Given the description of an element on the screen output the (x, y) to click on. 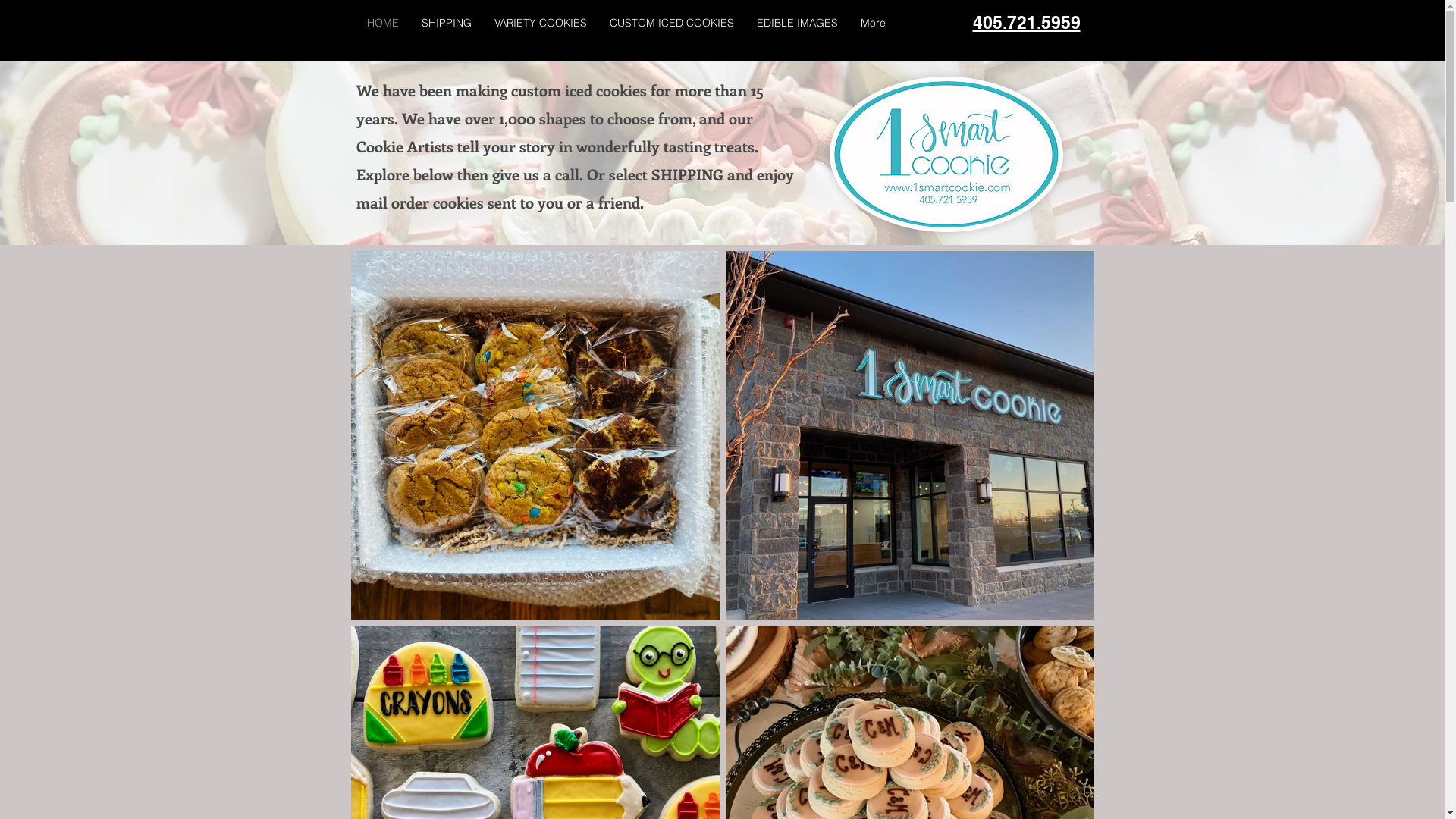
405.721.5959 Element type: text (1025, 22)
VARIETY COOKIES Element type: text (539, 23)
CUSTOM ICED COOKIES Element type: text (670, 23)
HOME Element type: text (381, 23)
SHIPPING Element type: text (445, 23)
EDIBLE IMAGES Element type: text (796, 23)
